Given the description of an element on the screen output the (x, y) to click on. 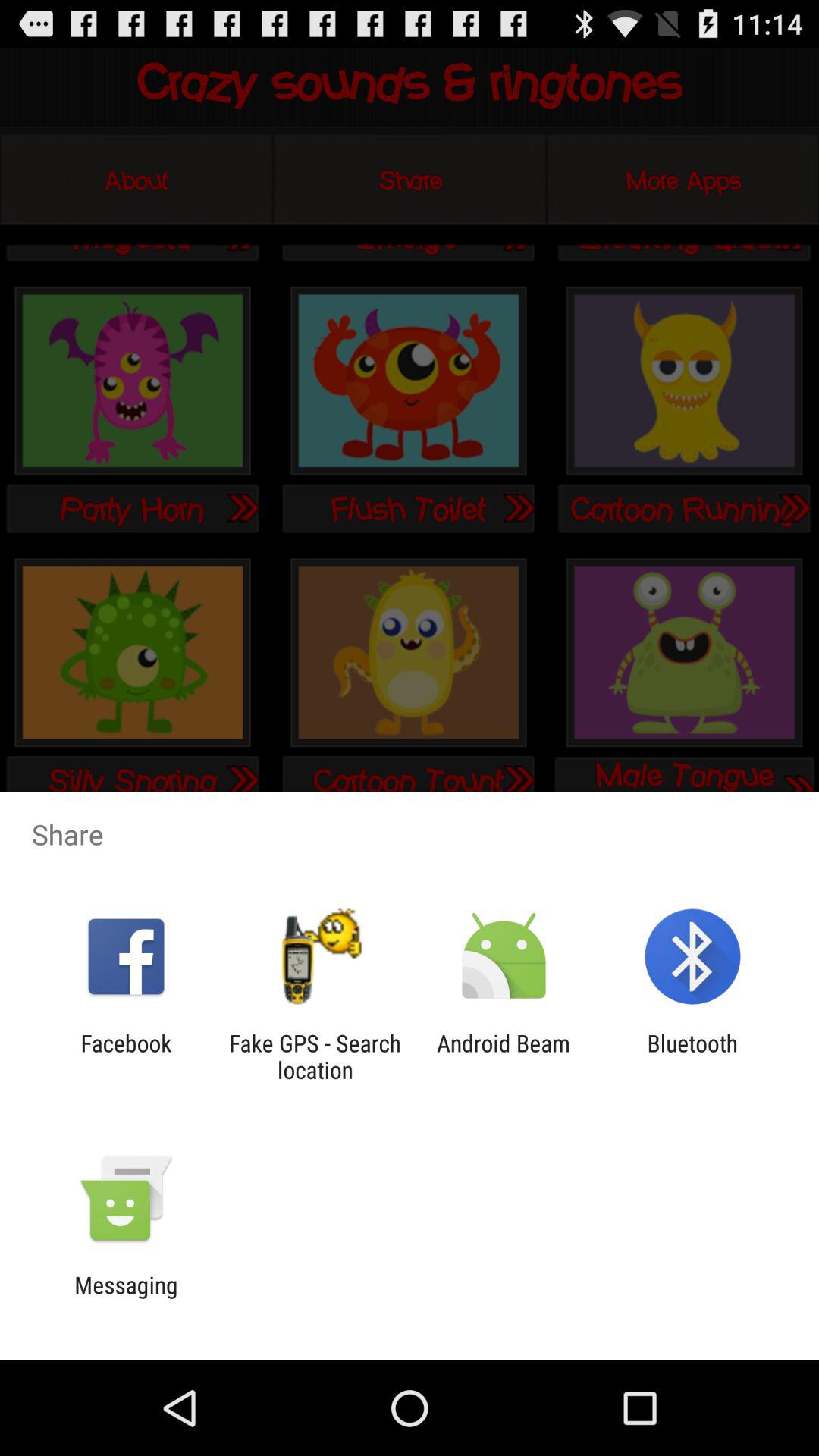
press the app next to bluetooth app (503, 1056)
